Given the description of an element on the screen output the (x, y) to click on. 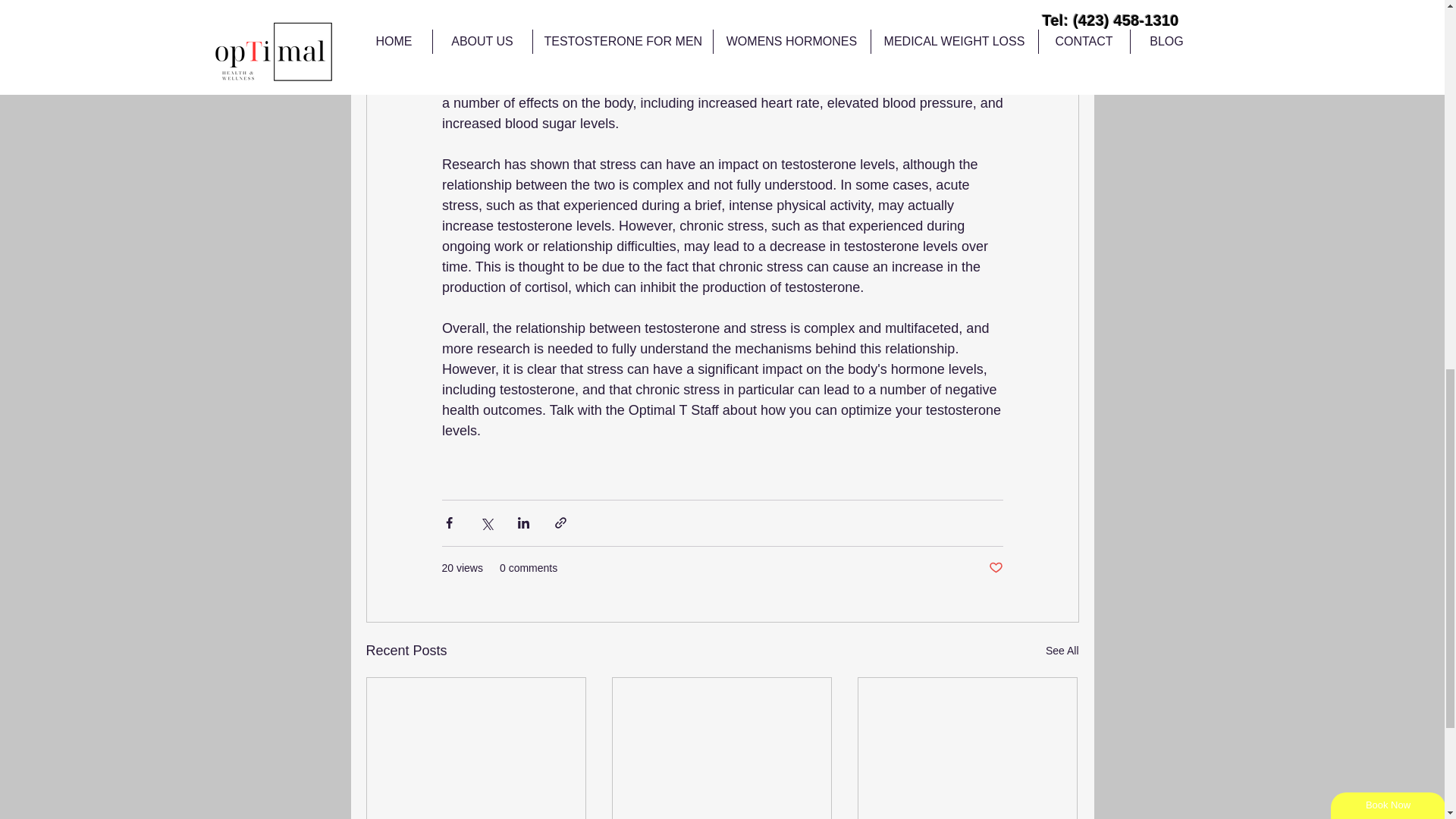
See All (1061, 650)
Post not marked as liked (995, 568)
